Given the description of an element on the screen output the (x, y) to click on. 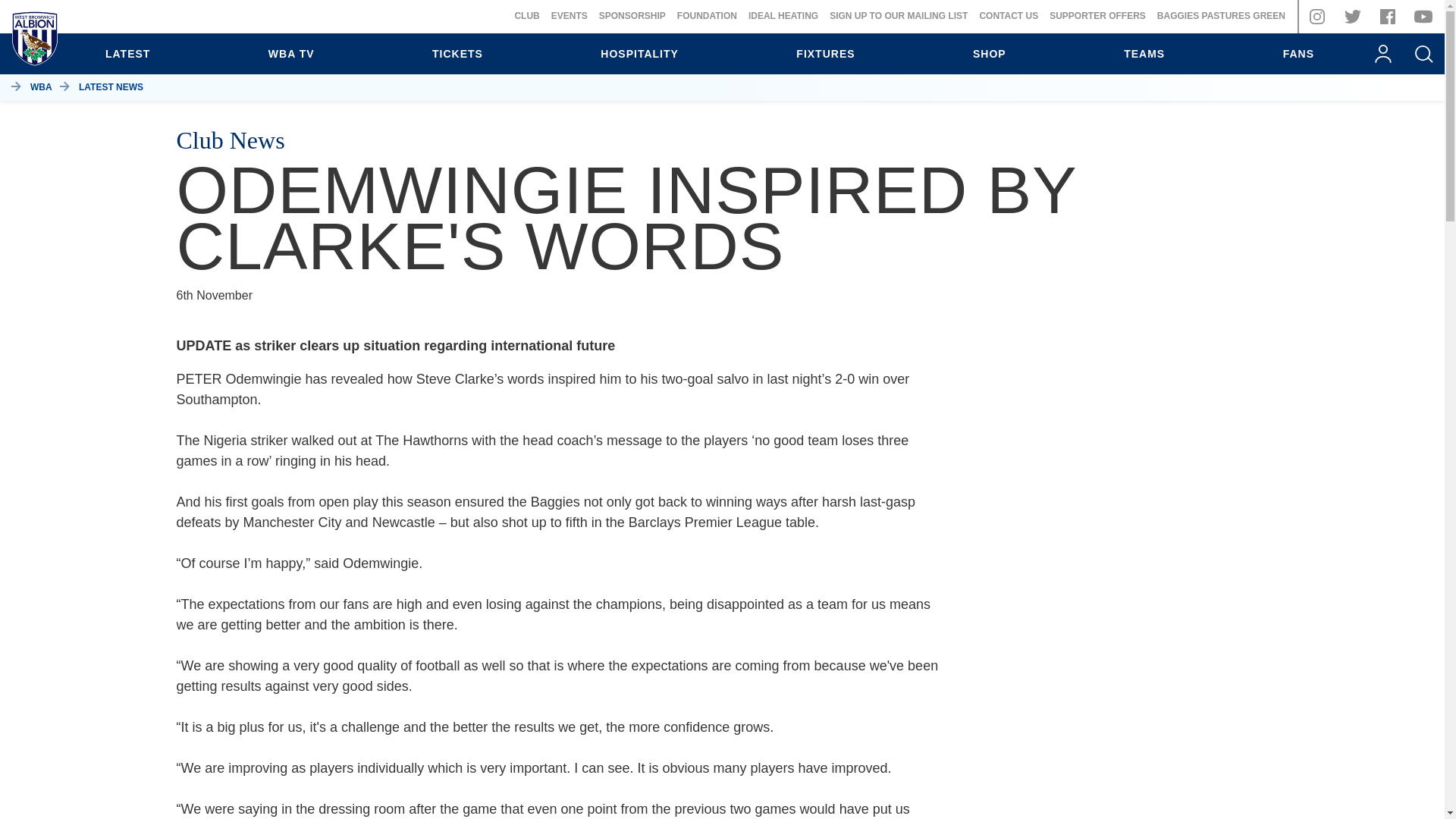
BAGGIES PASTURES GREEN (1221, 15)
CONTACT US (1008, 15)
FOUNDATION (706, 15)
Latest (127, 53)
SIGN UP TO OUR MAILING LIST (898, 15)
SPONSORSHIP (631, 15)
CLUB (525, 15)
EVENTS (569, 15)
SUPPORTER OFFERS (1097, 15)
IDEAL HEATING (783, 15)
The Albion Foundation (706, 15)
